Given the description of an element on the screen output the (x, y) to click on. 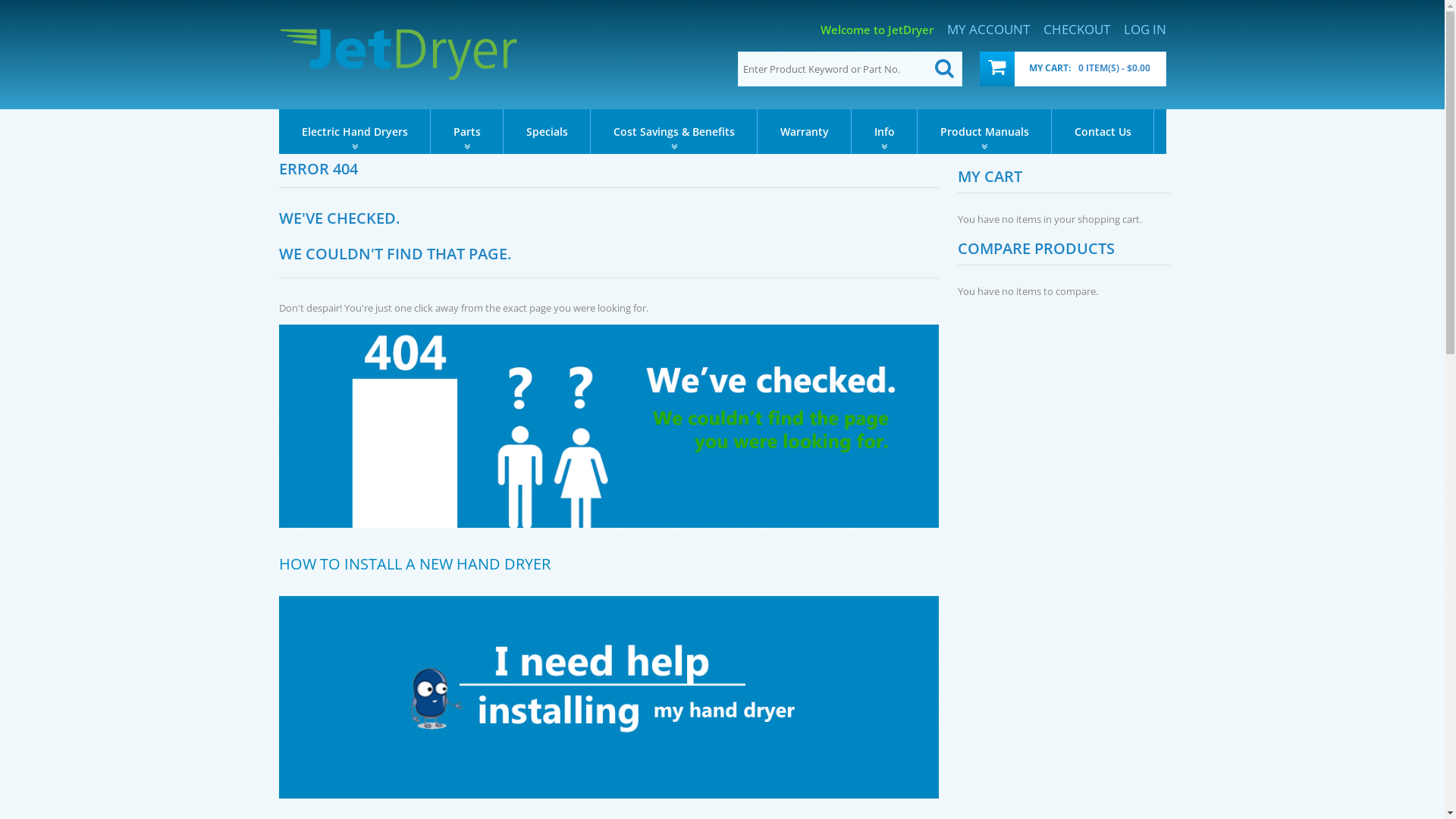
HOW TO INSTALL A NEW HAND DRYER Element type: text (414, 563)
Info Element type: text (883, 131)
Warranty Element type: text (803, 131)
LOG IN Element type: text (1144, 29)
MY ACCOUNT Element type: text (987, 29)
Product Manuals Element type: text (984, 131)
Contact Us Element type: text (1102, 131)
CHECKOUT Element type: text (1076, 29)
Parts Element type: text (466, 131)
Cost Savings & Benefits Element type: text (672, 131)
Specials Element type: text (546, 131)
Electric Hand Dryers Element type: text (354, 131)
JetDryer Element type: hover (398, 53)
Search Element type: hover (943, 68)
  Element type: text (280, 579)
